Given the description of an element on the screen output the (x, y) to click on. 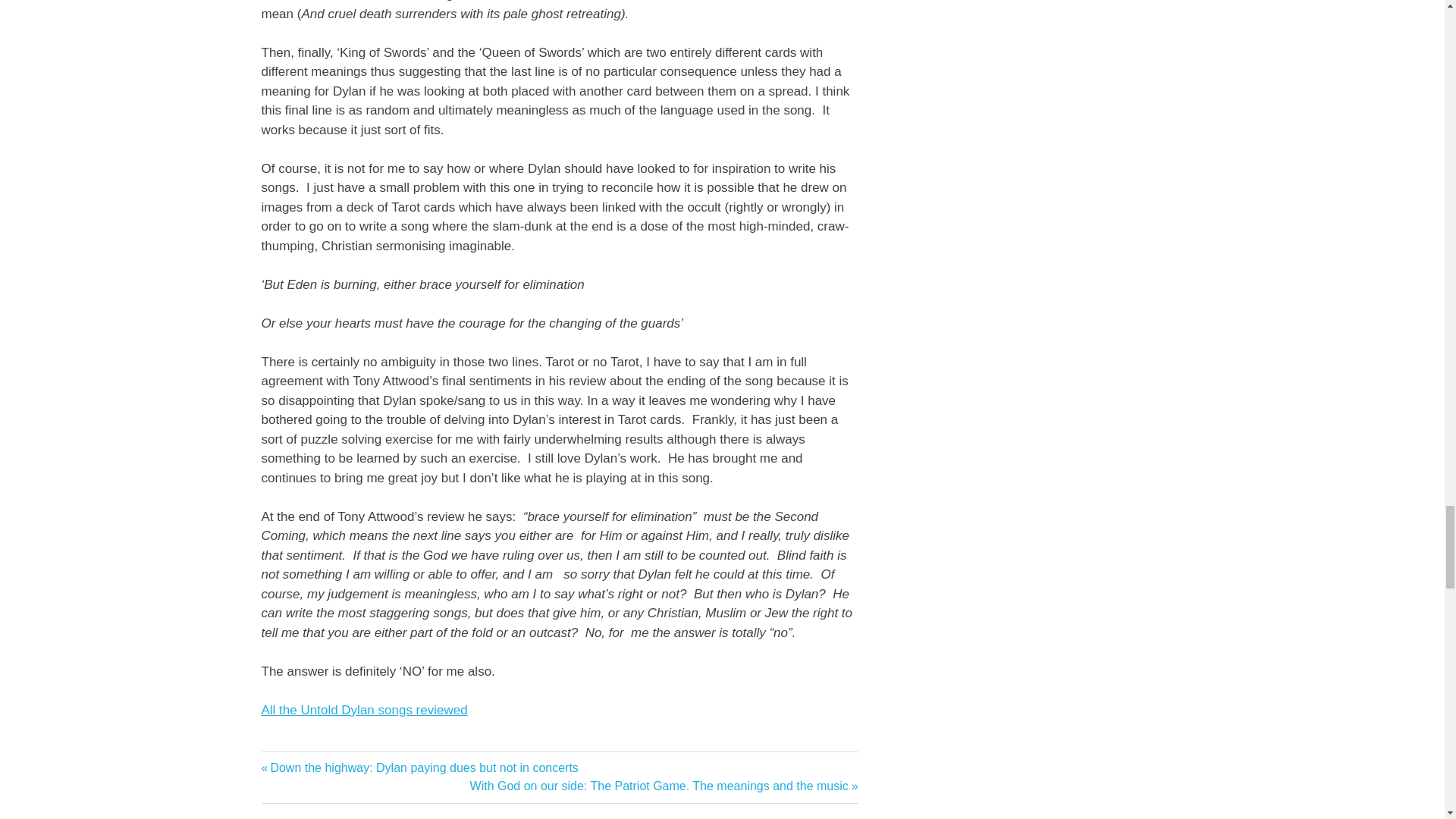
All the Untold Dylan songs reviewed (363, 709)
